Given the description of an element on the screen output the (x, y) to click on. 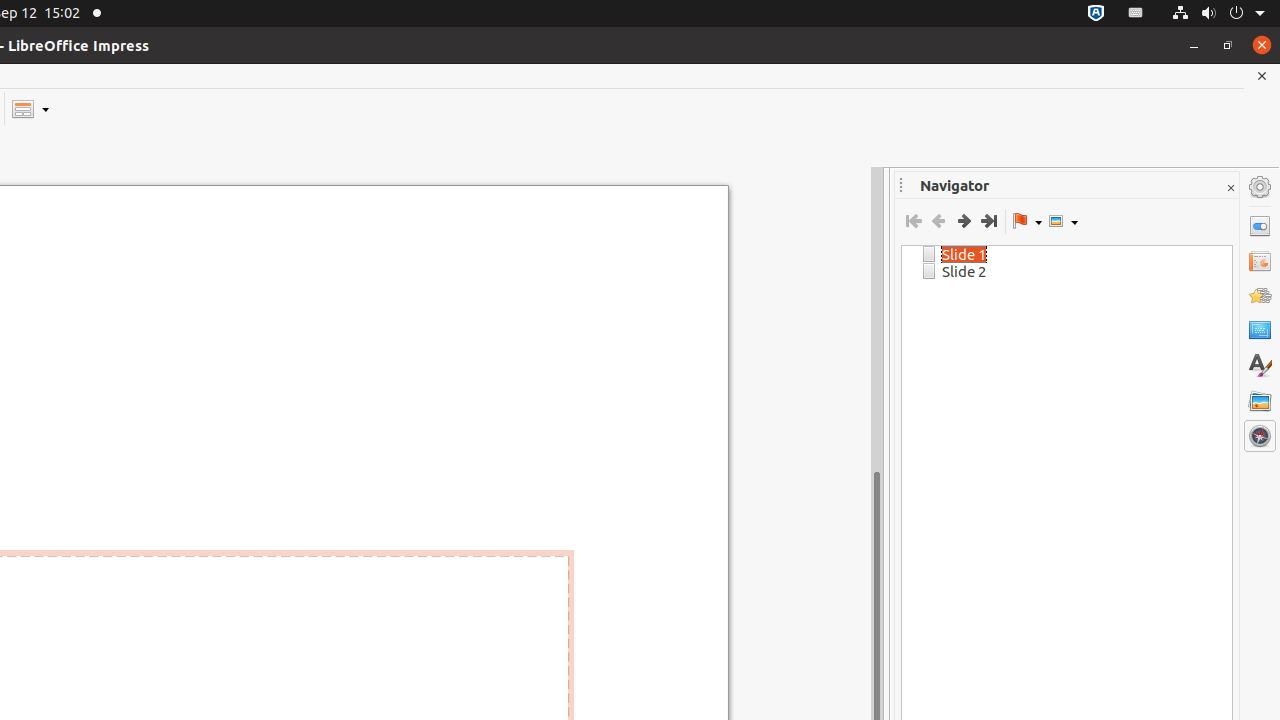
Last Slide Element type: push-button (988, 221)
Close Sidebar Deck Element type: push-button (1230, 188)
Properties Element type: radio-button (1260, 226)
